Given the description of an element on the screen output the (x, y) to click on. 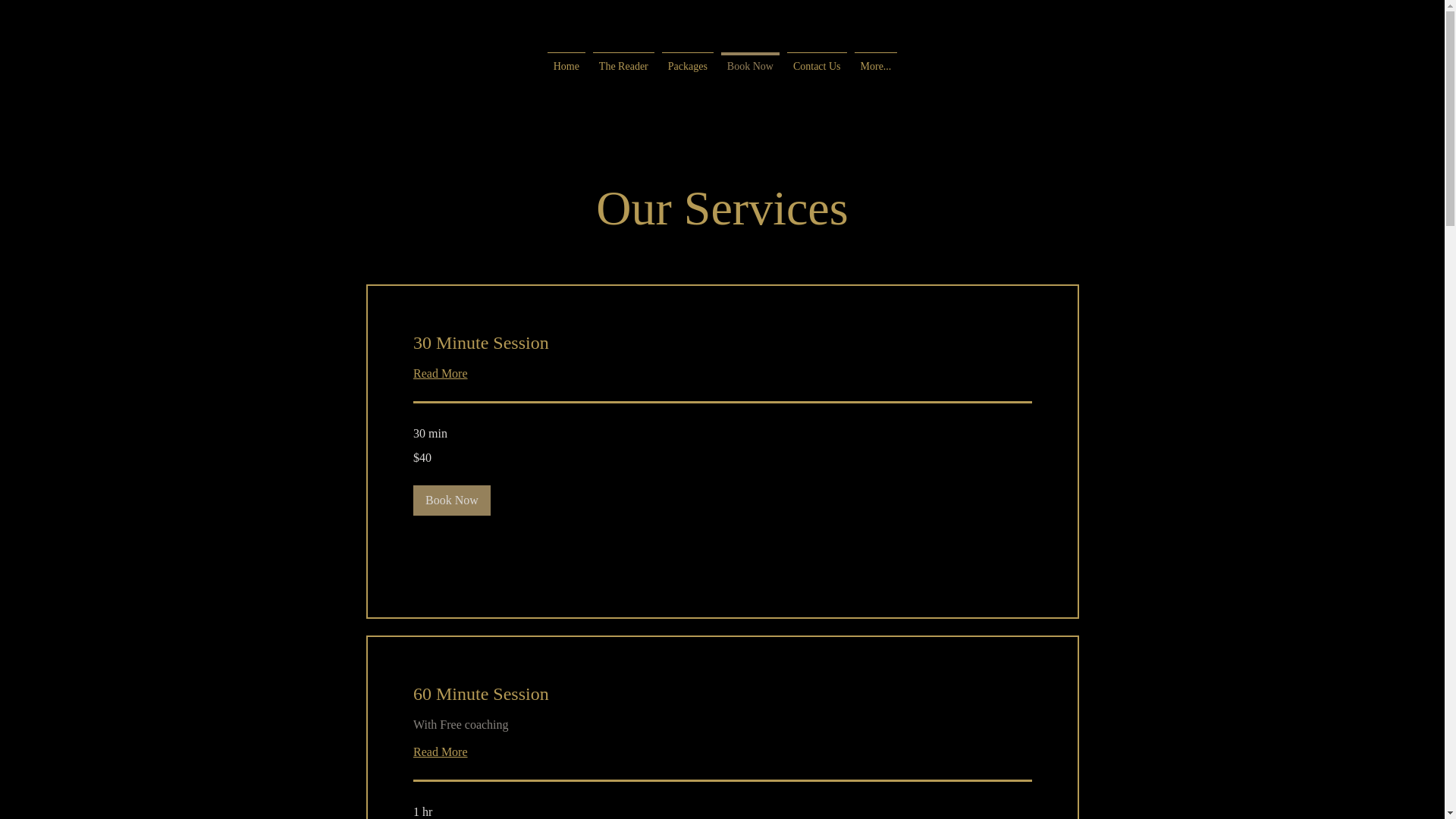
Contact Us Element type: text (816, 75)
Home Element type: text (566, 75)
30 Minute Session Element type: text (721, 343)
Read More Element type: text (439, 752)
Packages Element type: text (687, 75)
Read More Element type: text (439, 373)
Book Now Element type: text (450, 500)
60 Minute Session Element type: text (721, 694)
Book Now Element type: text (750, 75)
The Reader Element type: text (623, 75)
